Given the description of an element on the screen output the (x, y) to click on. 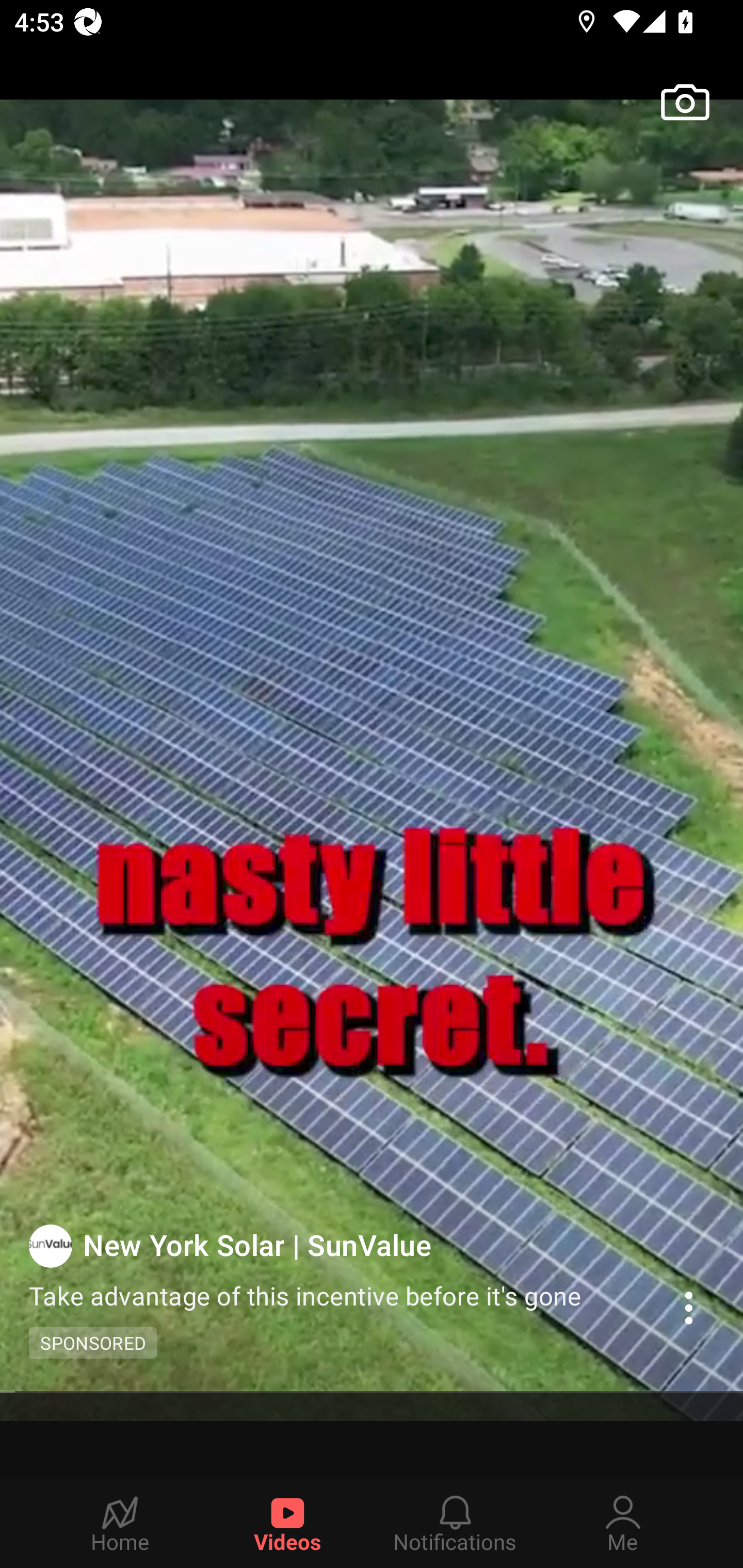
New York Solar | SunValue (344, 1243)
Take advantage of this incentive before it's gone (316, 1294)
Home (119, 1522)
Notifications (455, 1522)
Me (622, 1522)
